Given the description of an element on the screen output the (x, y) to click on. 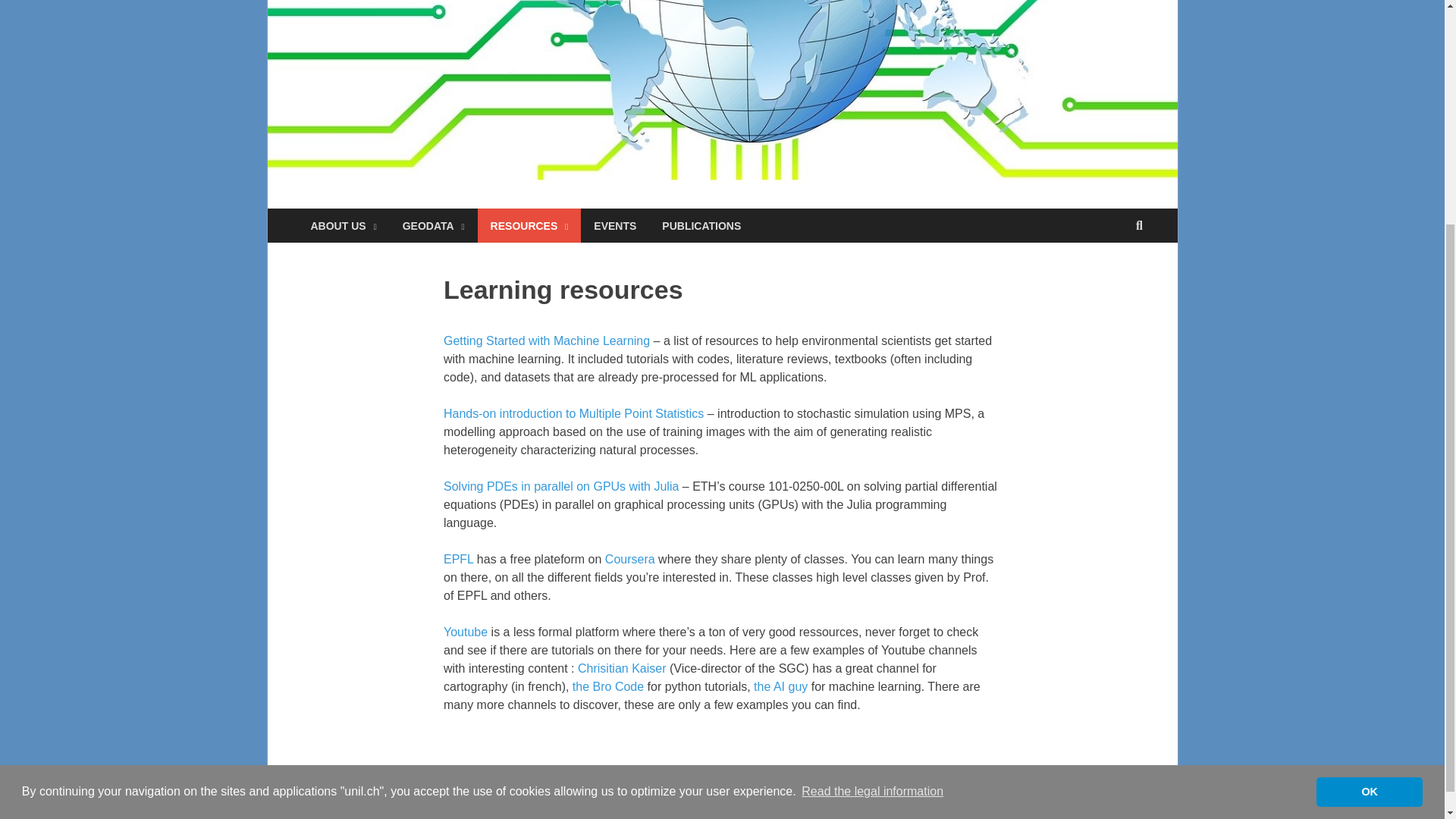
EVENTS (614, 225)
RESOURCES (528, 225)
GEODATA (433, 225)
PUBLICATIONS (701, 225)
OK (1369, 482)
Read the legal information (871, 482)
ABOUT US (342, 225)
